Given the description of an element on the screen output the (x, y) to click on. 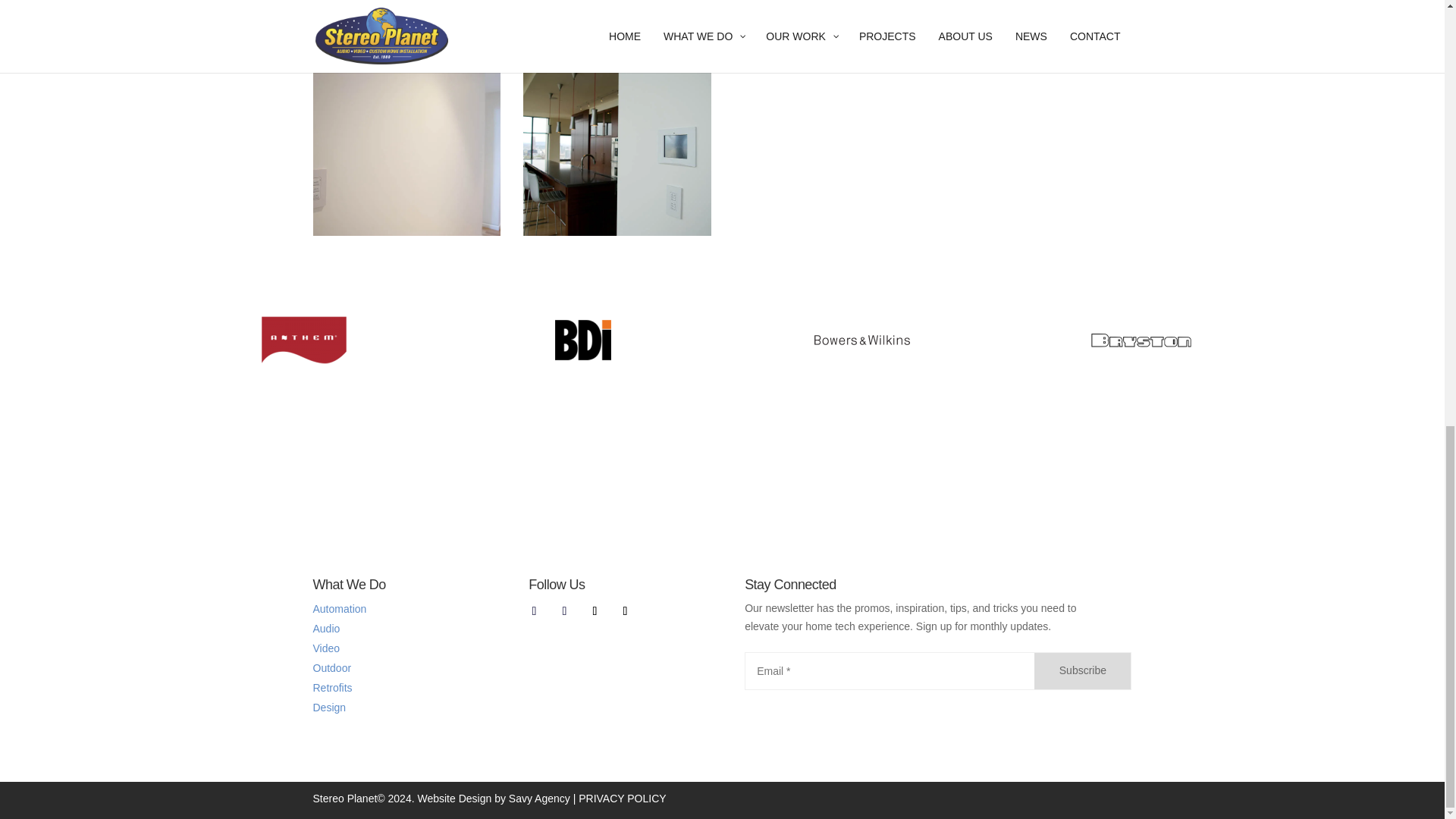
subscribe (1082, 670)
Follow on Facebook (533, 610)
Follow on Instagram (624, 610)
Follow on google-plus (563, 610)
Follow on LinkedIn (594, 610)
